Given the description of an element on the screen output the (x, y) to click on. 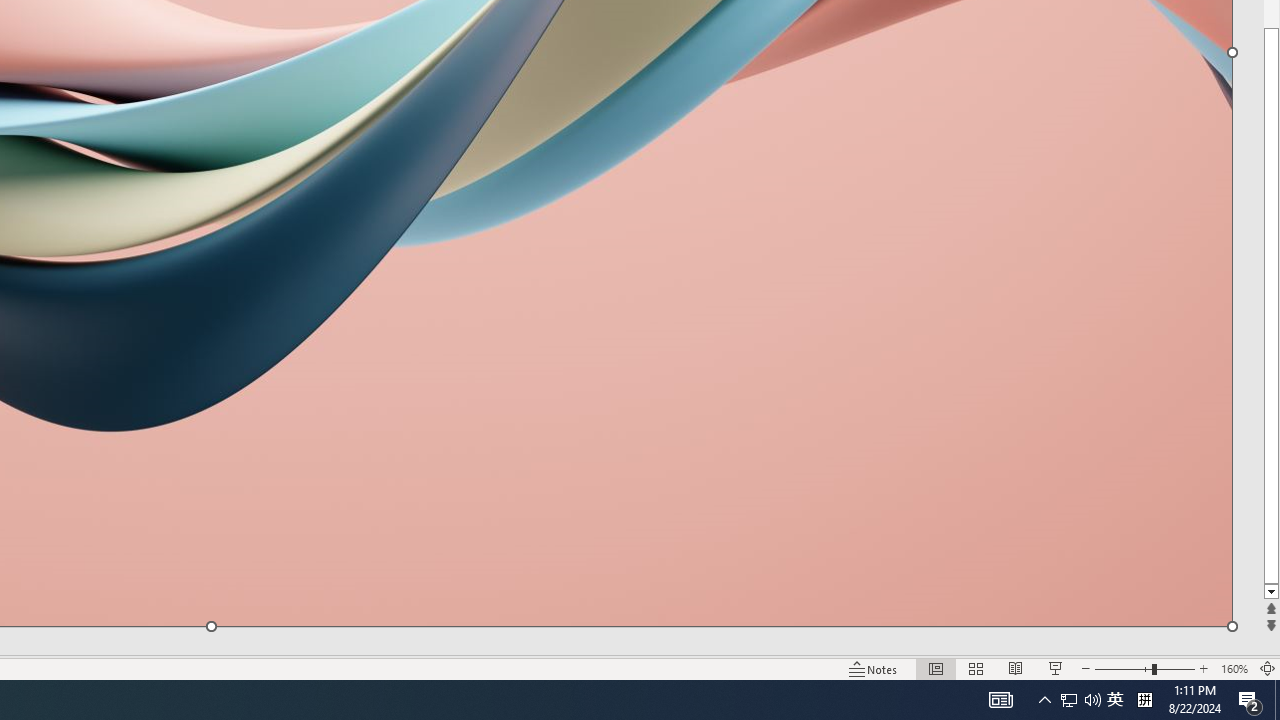
Zoom 160% (1234, 668)
